Given the description of an element on the screen output the (x, y) to click on. 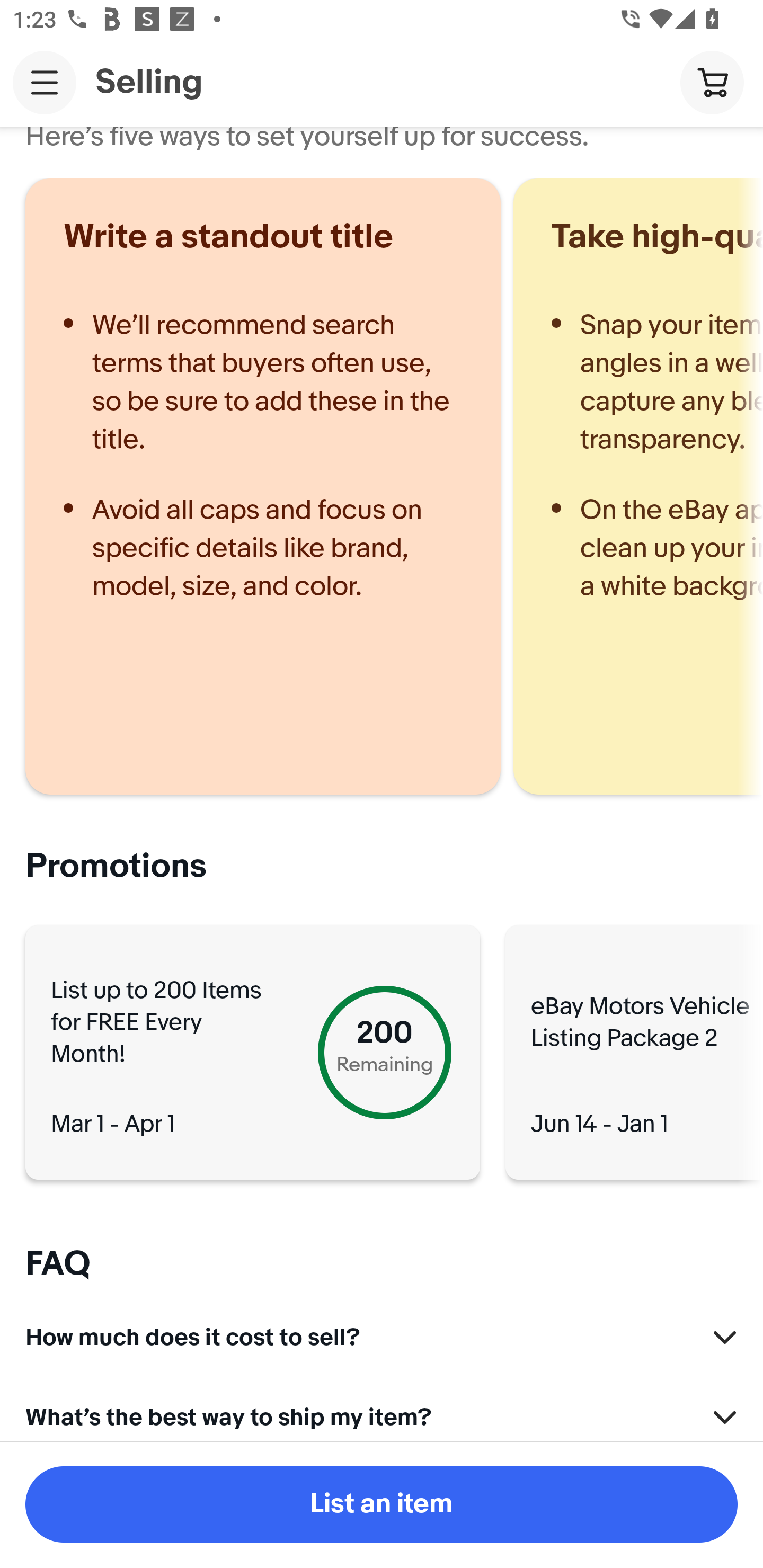
Main navigation, open (44, 82)
Cart button shopping cart (711, 81)
How much does it cost to sell? (381, 1331)
What’s the best way to ship my item? (381, 1415)
List an item (381, 1504)
